Given the description of an element on the screen output the (x, y) to click on. 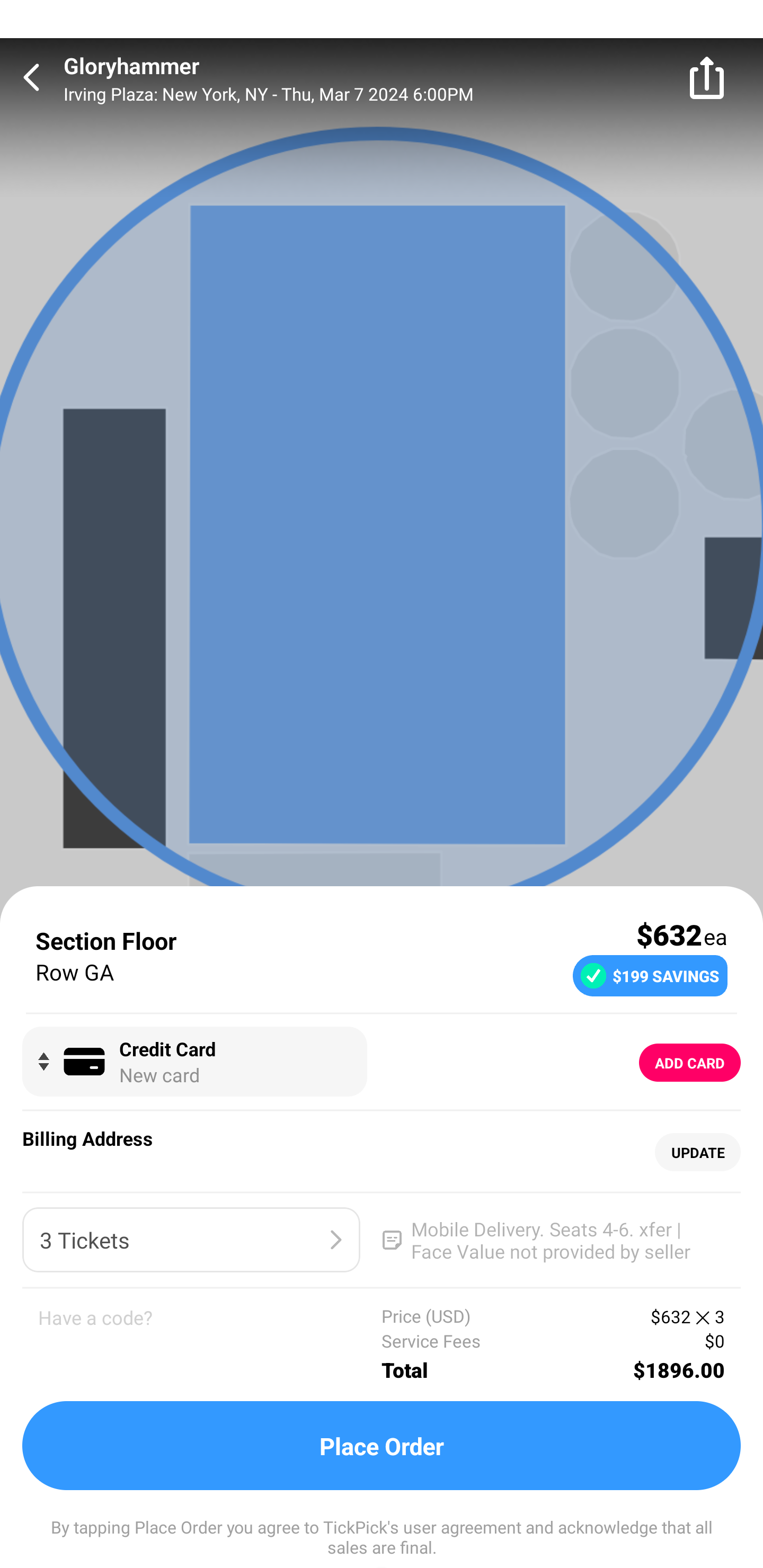
$199 SAVINGS (650, 974)
Credit Card, New card Credit Card New card (194, 1061)
ADD CARD (689, 1062)
UPDATE (697, 1152)
3 Tickets (191, 1239)
Have a code? (209, 1344)
Place Order (381, 1445)
